Given the description of an element on the screen output the (x, y) to click on. 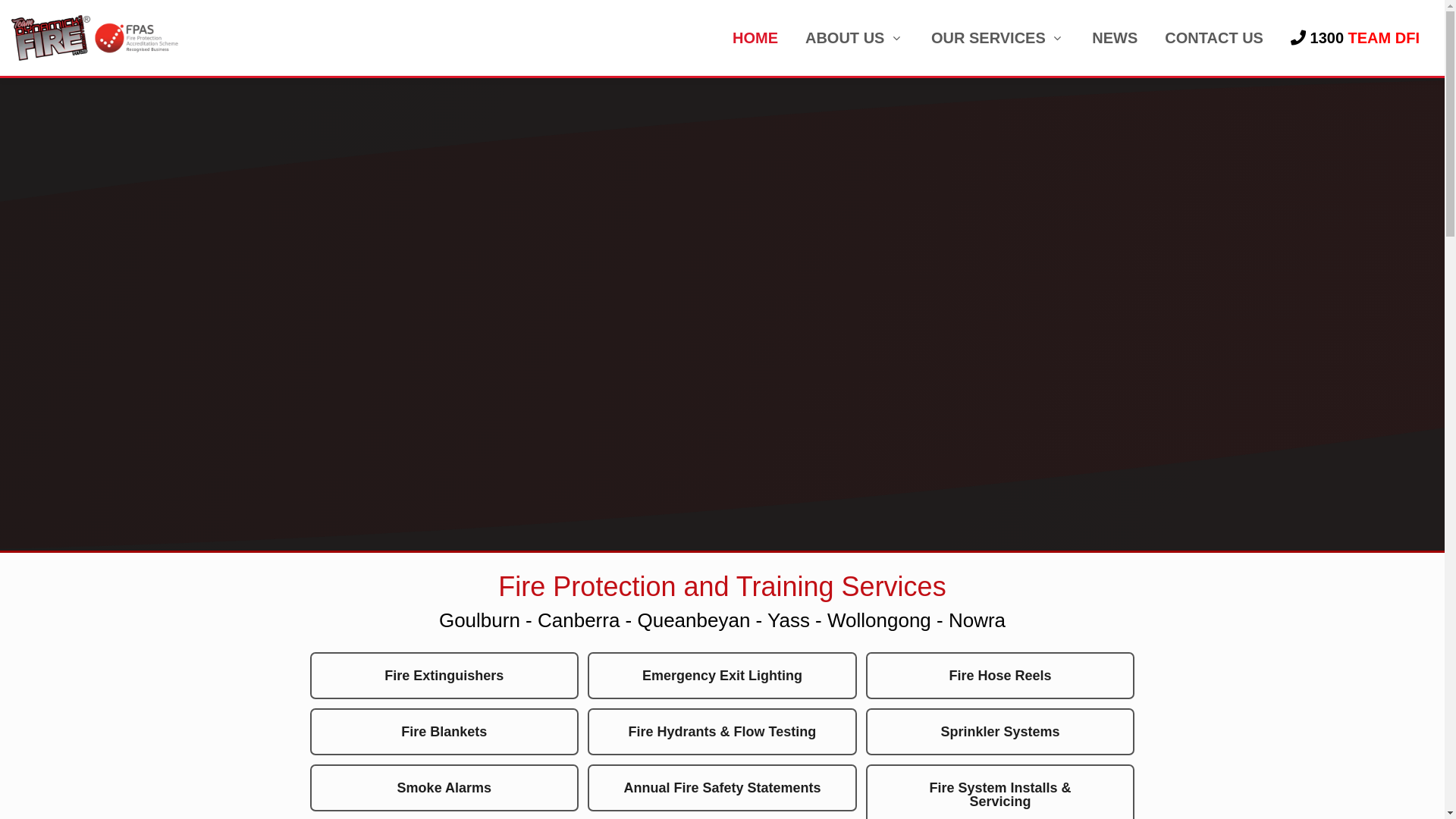
NEWS Element type: text (1114, 37)
Emergency Exit Lighting Element type: text (721, 675)
Smoke Alarms Element type: text (443, 787)
HOME Element type: text (755, 37)
1300 Element type: text (1354, 37)
ABOUT US Element type: text (854, 37)
CONTACT US Element type: text (1213, 37)
Fire Blankets Element type: text (443, 731)
Fire Extinguishers Element type: text (443, 675)
Fire Hydrants & Flow Testing Element type: text (721, 731)
Annual Fire Safety Statements Element type: text (721, 787)
Fire Hose Reels Element type: text (1000, 675)
Sprinkler Systems Element type: text (1000, 731)
